Given the description of an element on the screen output the (x, y) to click on. 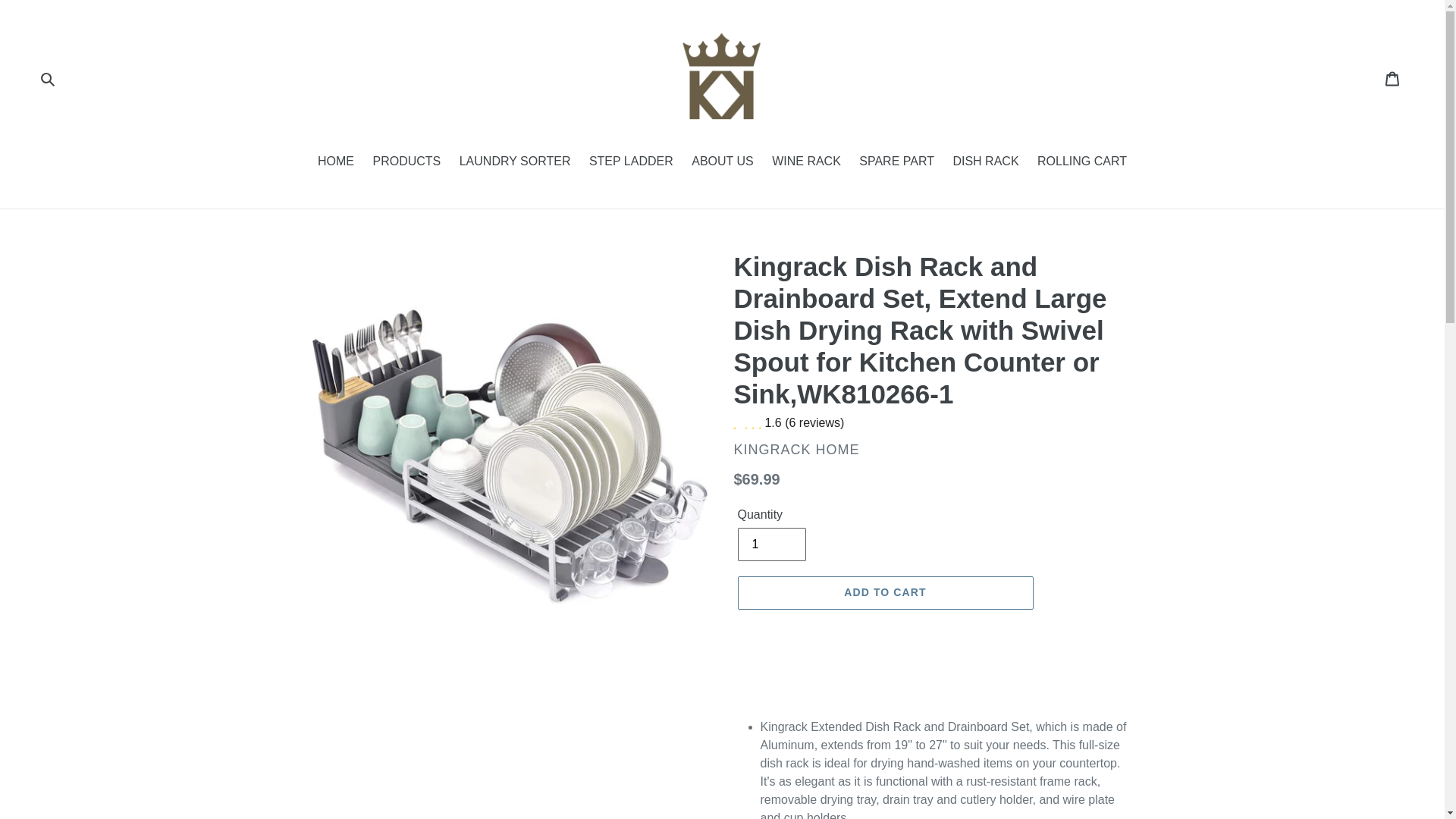
ABOUT US (722, 162)
DISH RACK (985, 162)
Cart (1392, 78)
Submit (47, 78)
ROLLING CART (1081, 162)
HOME (335, 162)
PRODUCTS (406, 162)
LAUNDRY SORTER (514, 162)
WINE RACK (806, 162)
ADD TO CART (884, 592)
